Given the description of an element on the screen output the (x, y) to click on. 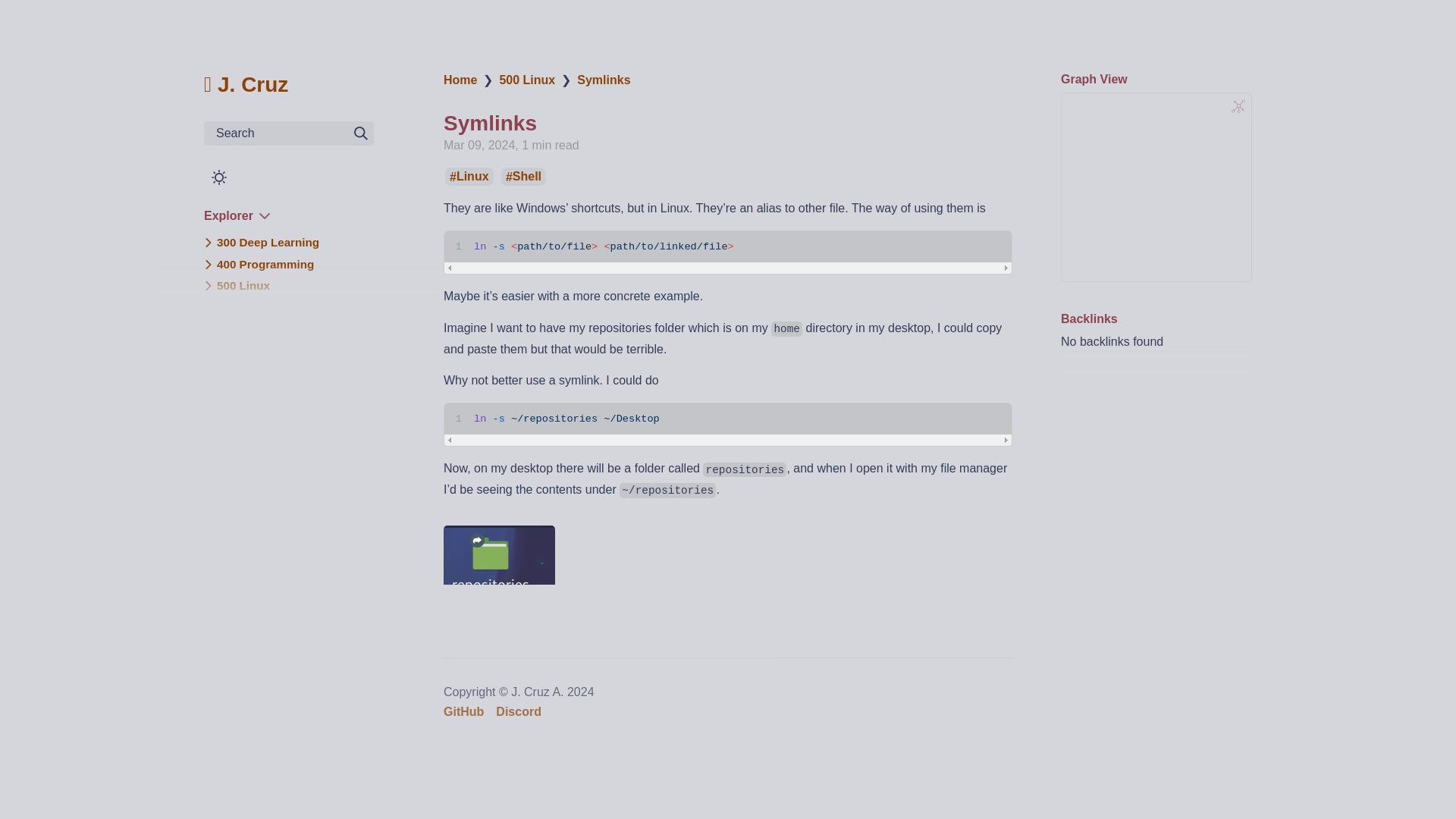
GitHub (463, 711)
Linux (469, 176)
500 Linux (242, 285)
Explorer (236, 215)
Discord (518, 711)
Shell (523, 176)
Symlinks (603, 79)
400 Programming (265, 264)
300 Deep Learning (267, 242)
500 Linux (526, 79)
Home (460, 79)
